Given the description of an element on the screen output the (x, y) to click on. 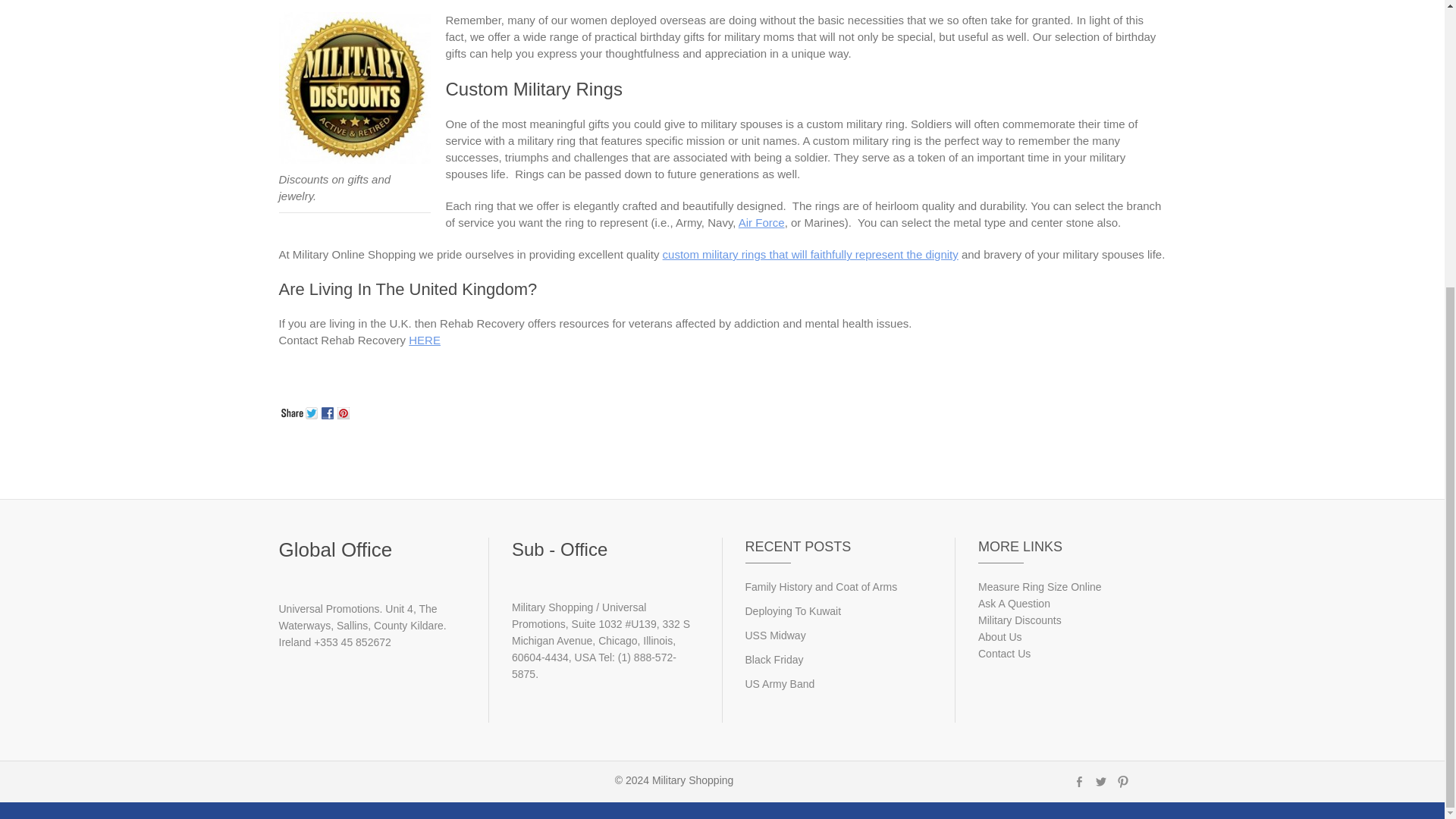
Air Force (761, 222)
Facebook (329, 411)
Custom Military Rings (810, 254)
Military Shopping (692, 779)
Pinterest (344, 411)
Twitter (312, 411)
